Given the description of an element on the screen output the (x, y) to click on. 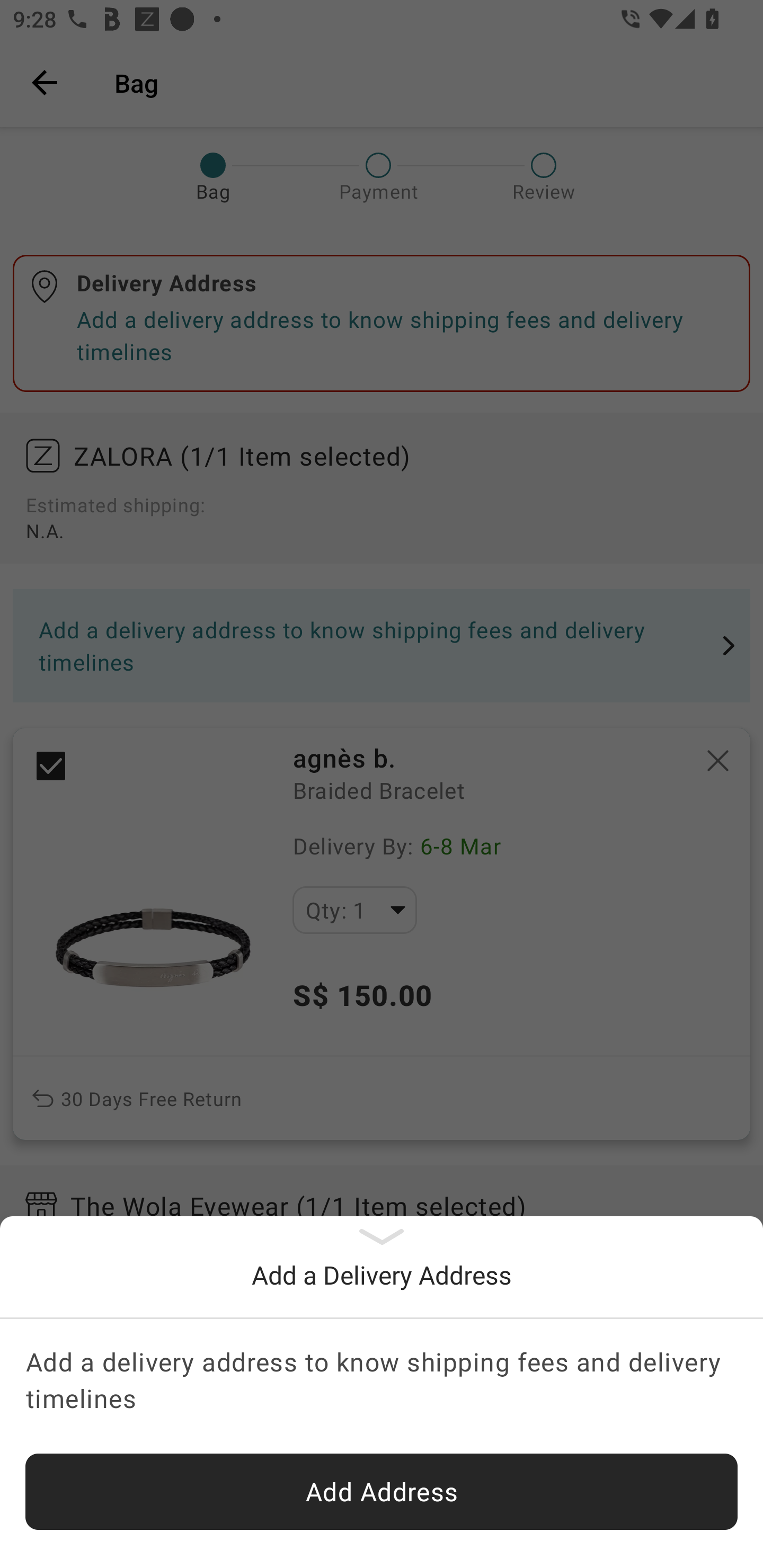
Add Address (381, 1491)
